Given the description of an element on the screen output the (x, y) to click on. 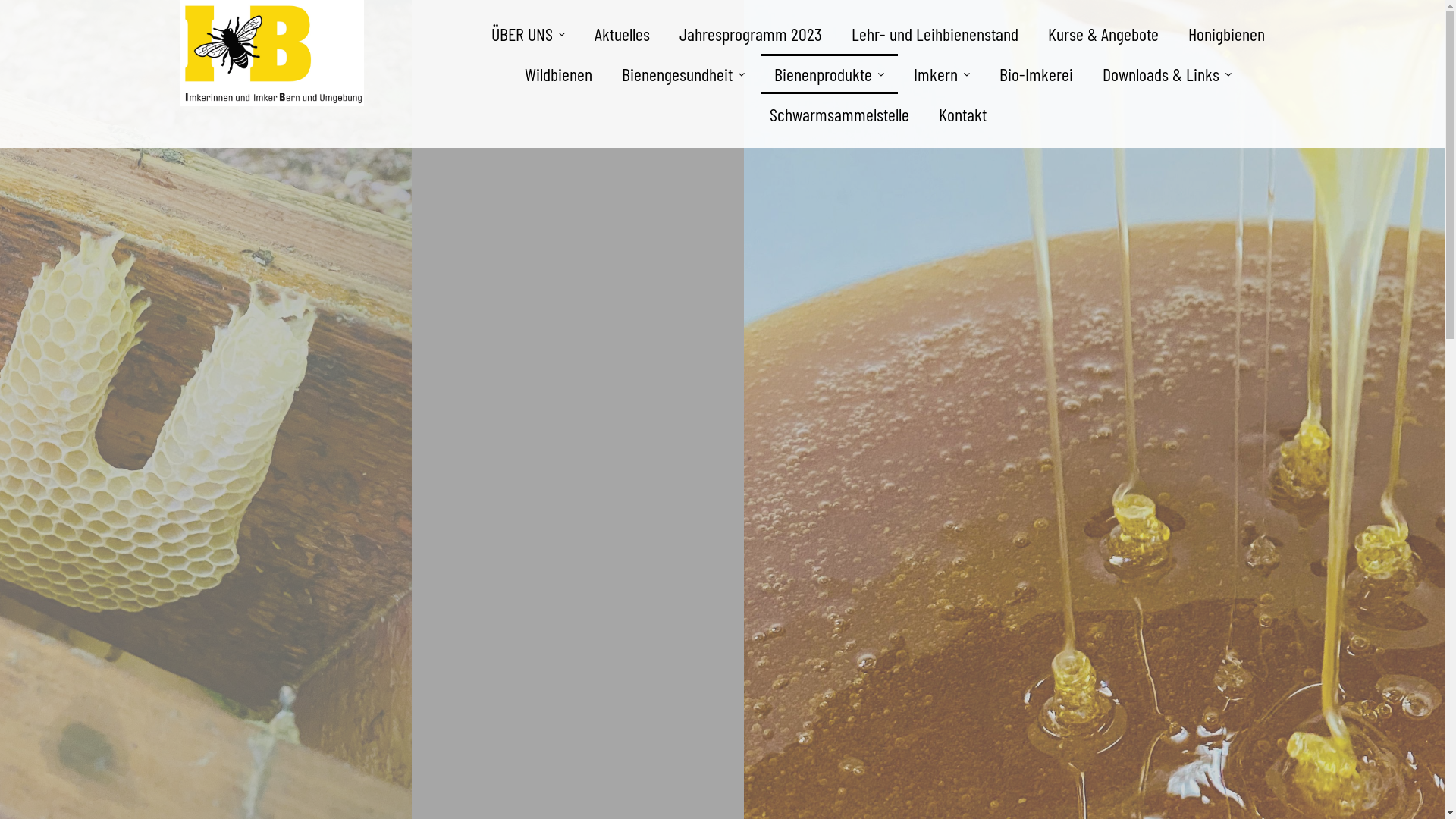
Honigbienen Element type: text (1225, 33)
Bio-Imkerei Element type: text (1035, 73)
Jahresprogramm 2023 Element type: text (750, 33)
Lehr- und Leihbienenstand Element type: text (934, 33)
Kurse & Angebote Element type: text (1103, 33)
Bienenprodukte Element type: text (828, 73)
Schwarmsammelstelle Element type: text (838, 114)
Bienengesundheit Element type: text (683, 73)
Aktuelles Element type: text (621, 33)
Downloads & Links Element type: text (1166, 73)
Wildbienen Element type: text (558, 73)
Imkern Element type: text (940, 73)
Kontakt Element type: text (962, 114)
